Given the description of an element on the screen output the (x, y) to click on. 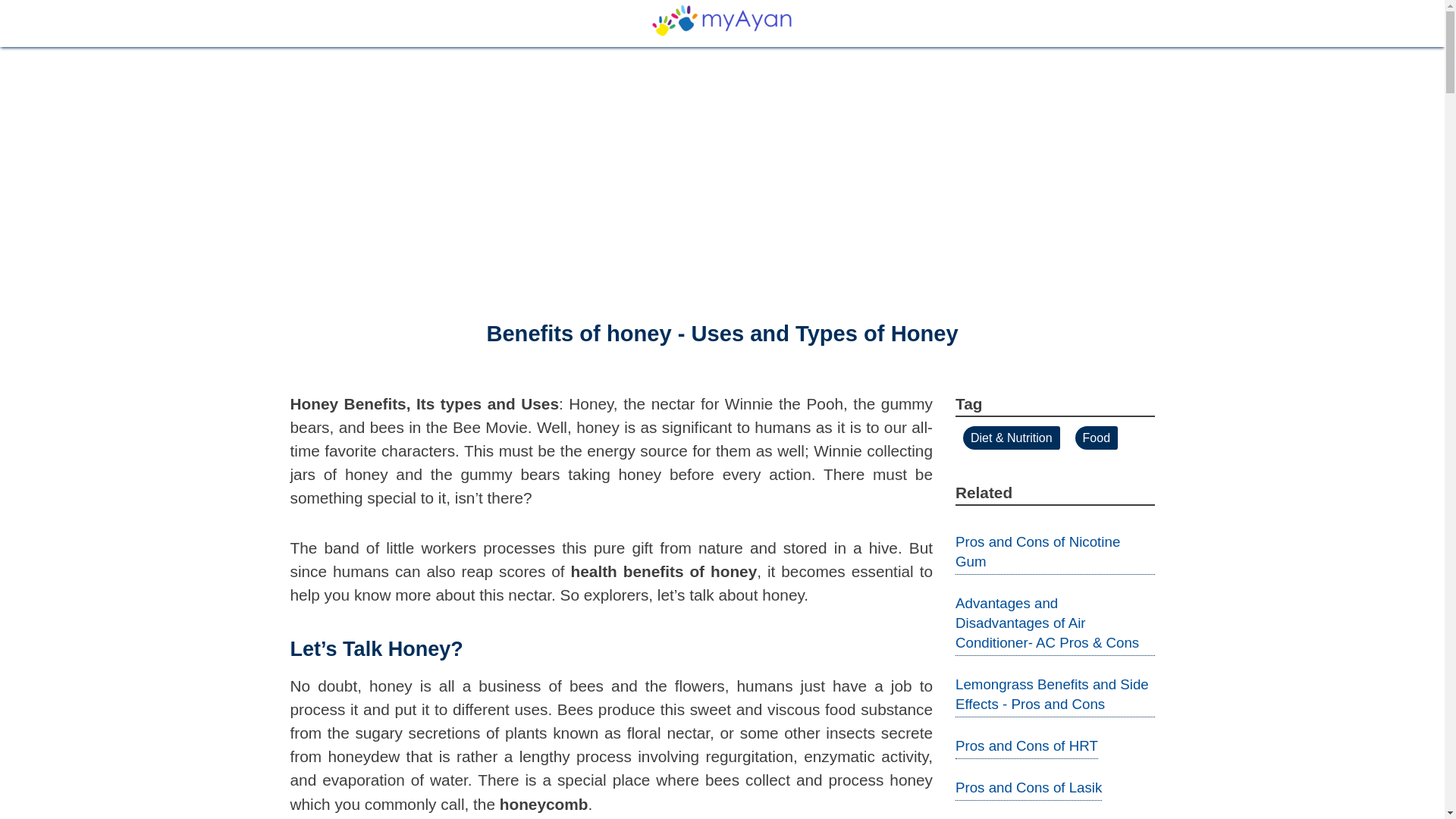
myayan.com (722, 20)
Pros and Cons of Lasik (1028, 787)
myayan (722, 18)
Food (1096, 437)
Pros and Cons of Nicotine Gum (1037, 551)
Lemongrass Benefits and Side Effects - Pros and Cons (1051, 693)
Pros and Cons of HRT (1026, 745)
